Given the description of an element on the screen output the (x, y) to click on. 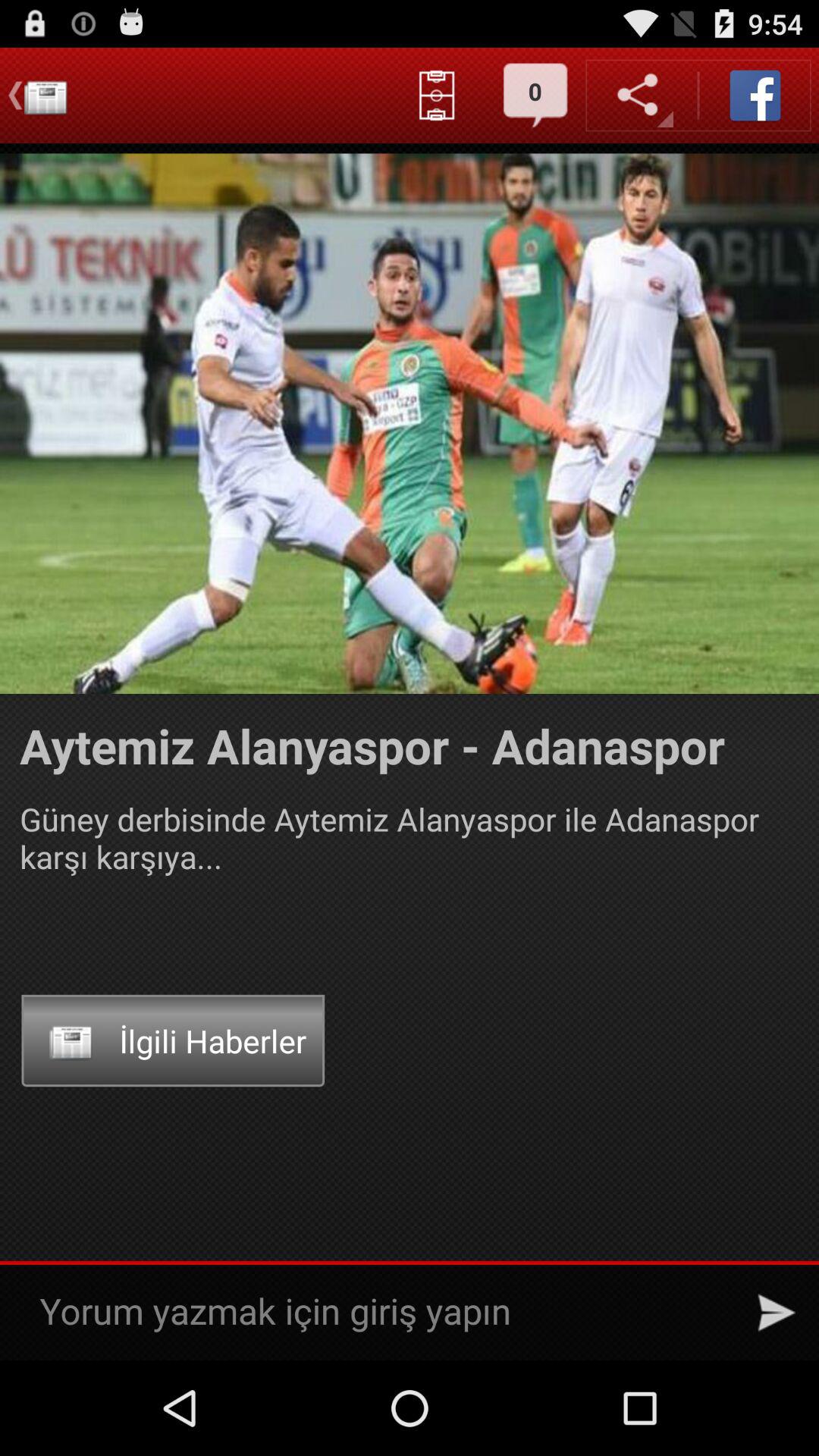
post the comments only girls (382, 1312)
